Given the description of an element on the screen output the (x, y) to click on. 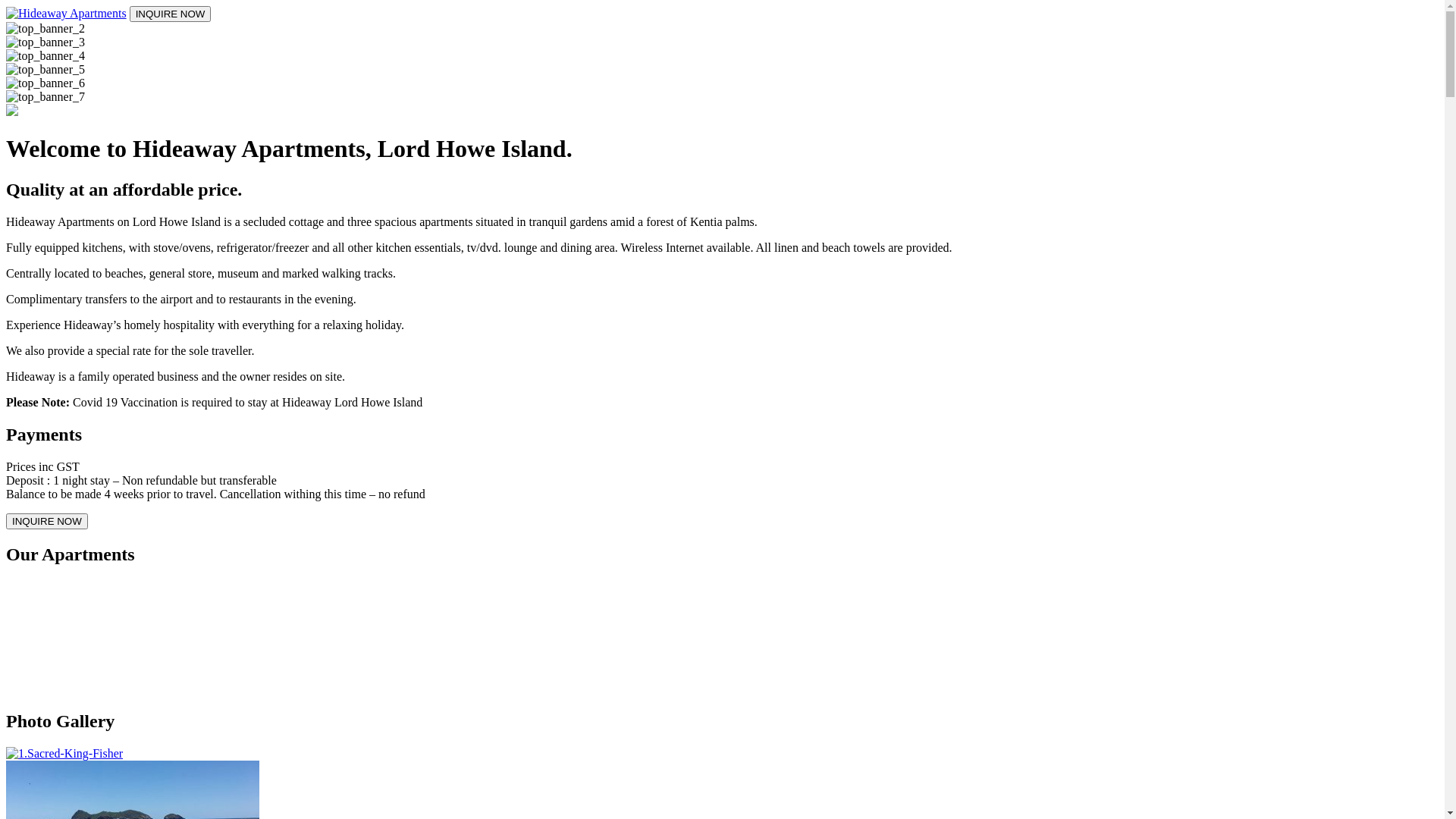
INQUIRE NOW Element type: text (170, 13)
INQUIRE NOW Element type: text (46, 521)
1.Sacred-King-Fisher Element type: hover (722, 753)
